Given the description of an element on the screen output the (x, y) to click on. 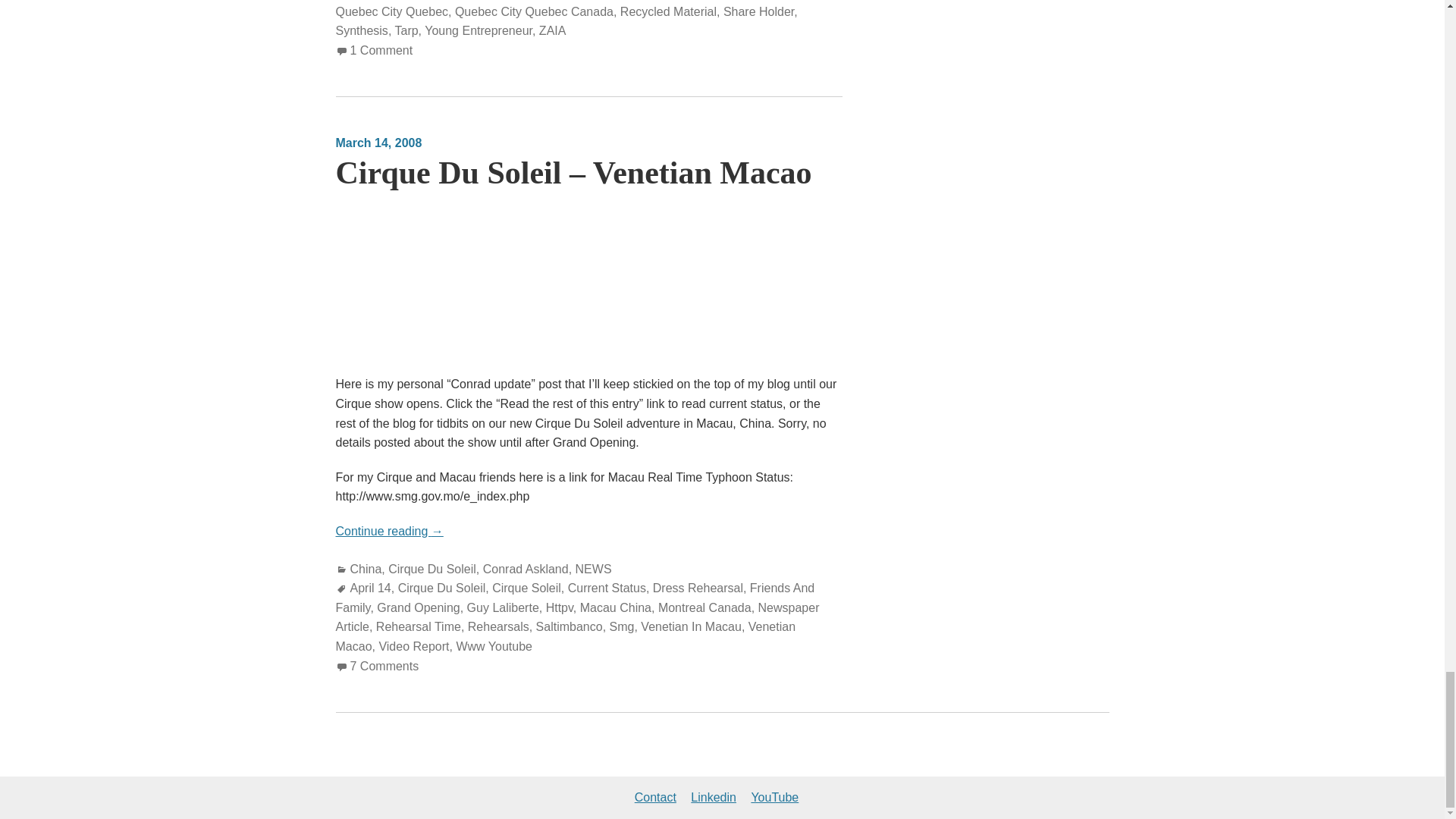
cirque-macau.jpg (557, 219)
